Given the description of an element on the screen output the (x, y) to click on. 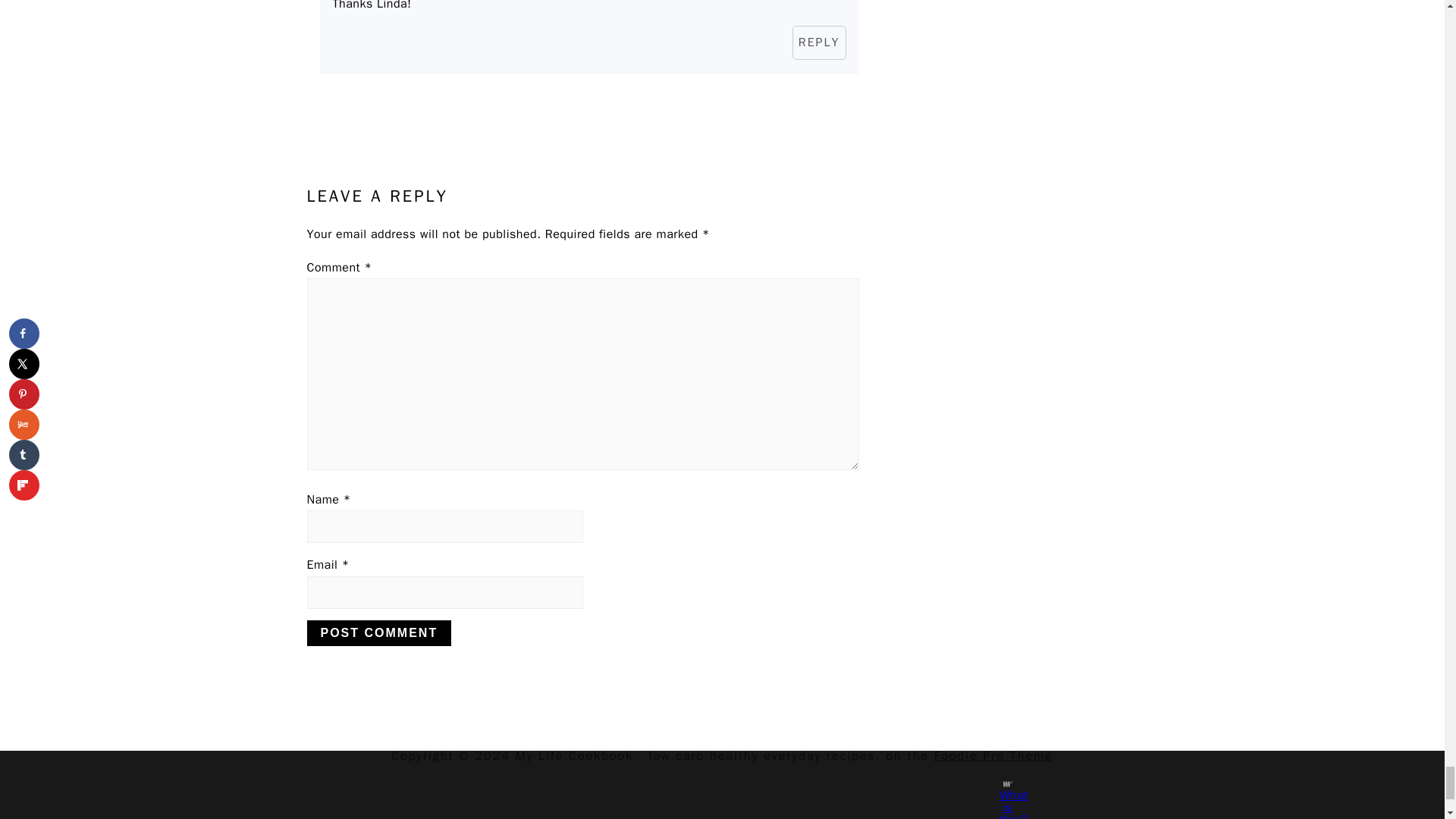
Post Comment (378, 632)
